Given the description of an element on the screen output the (x, y) to click on. 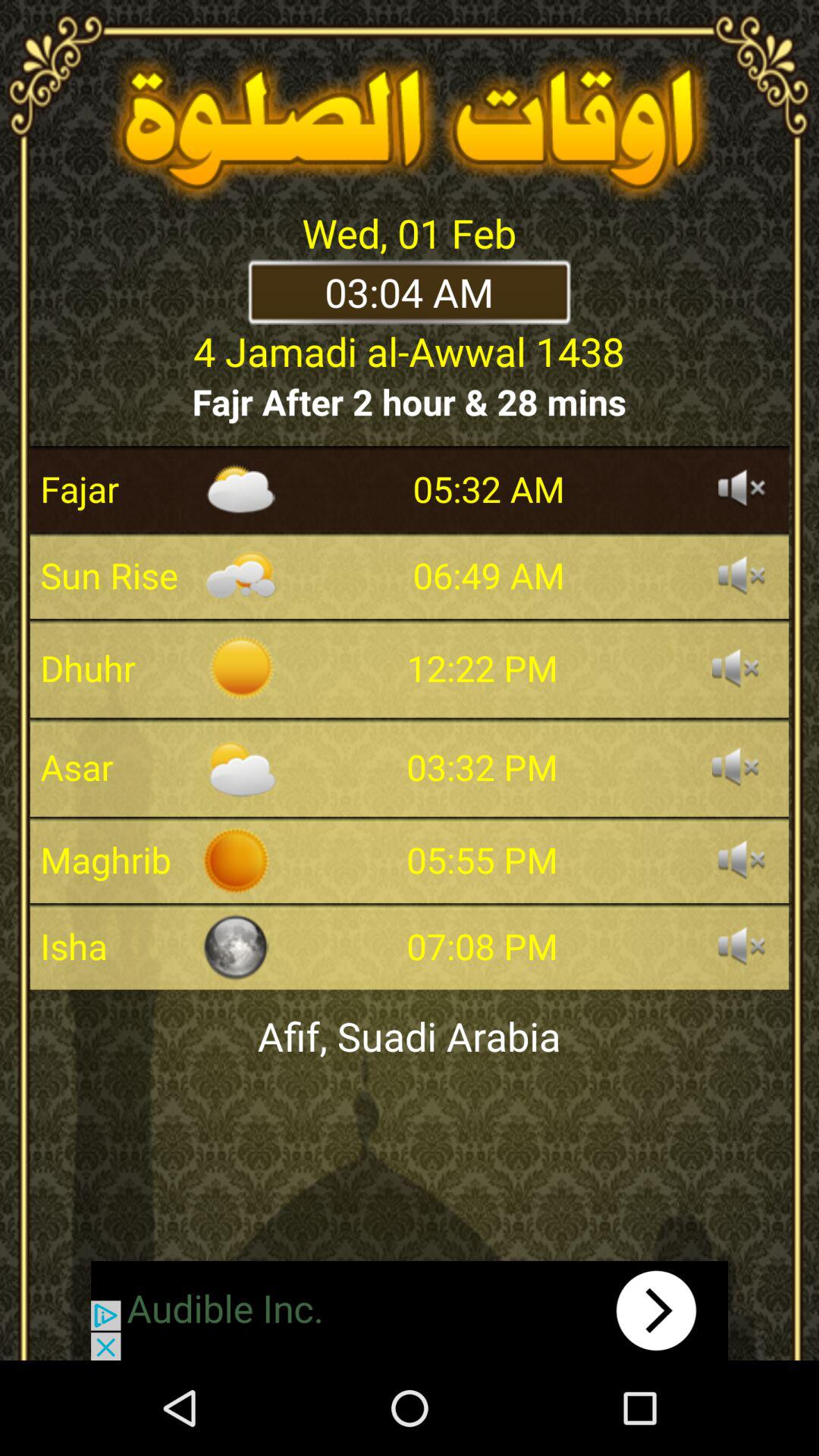
namaz time annoncer (741, 859)
